Given the description of an element on the screen output the (x, y) to click on. 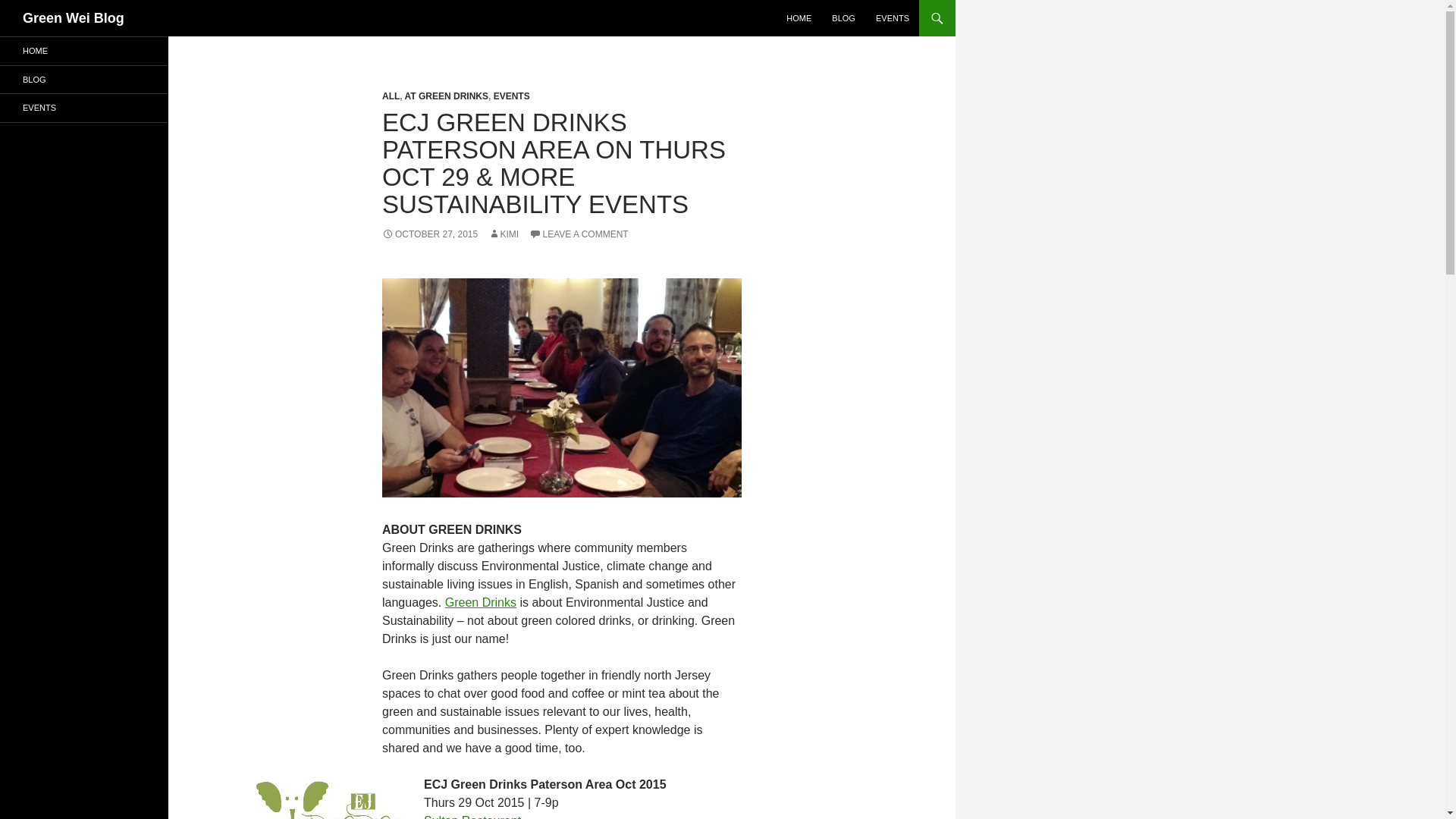
HOME (84, 50)
Green Drinks (480, 602)
Sultan Restaurant (472, 816)
HOME (799, 18)
BLOG (843, 18)
KIMI (503, 234)
Green Wei Blog (73, 18)
EVENTS (511, 95)
BLOG (84, 79)
LEAVE A COMMENT (578, 234)
OCTOBER 27, 2015 (429, 234)
AT GREEN DRINKS (445, 95)
EVENTS (892, 18)
